Given the description of an element on the screen output the (x, y) to click on. 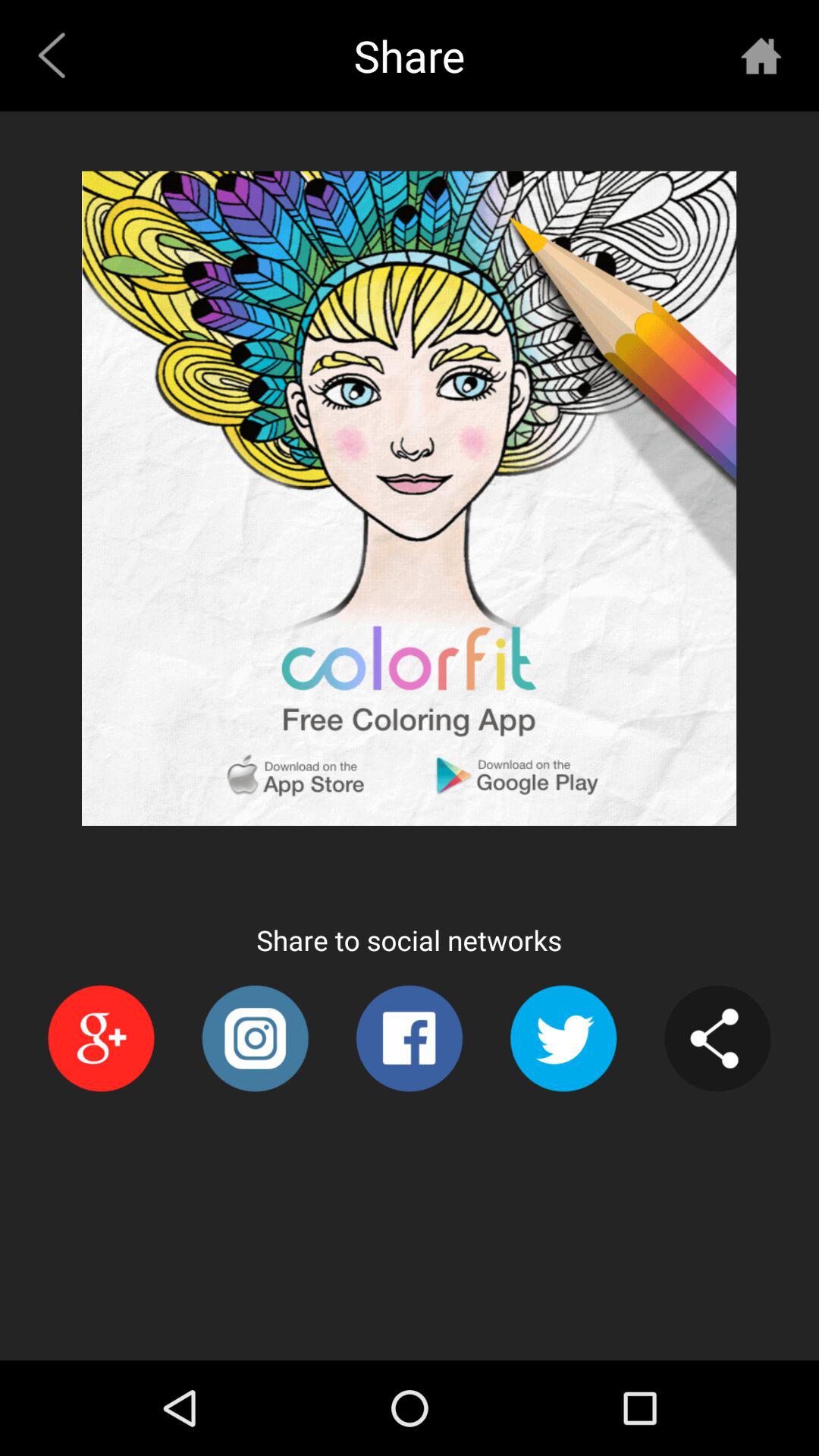
switch instagram option (255, 1038)
